Given the description of an element on the screen output the (x, y) to click on. 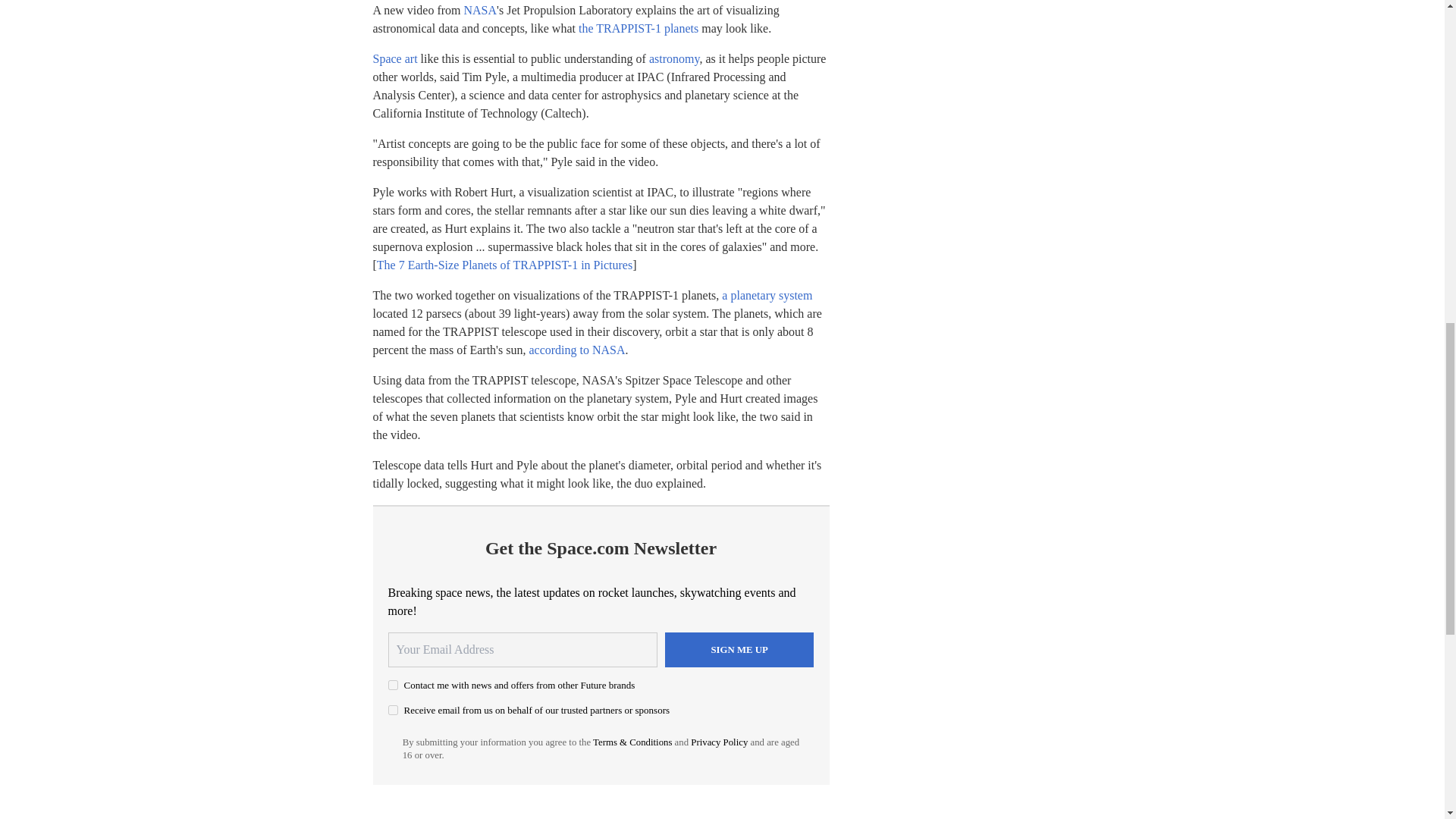
on (392, 685)
Sign me up (739, 649)
on (392, 709)
